Given the description of an element on the screen output the (x, y) to click on. 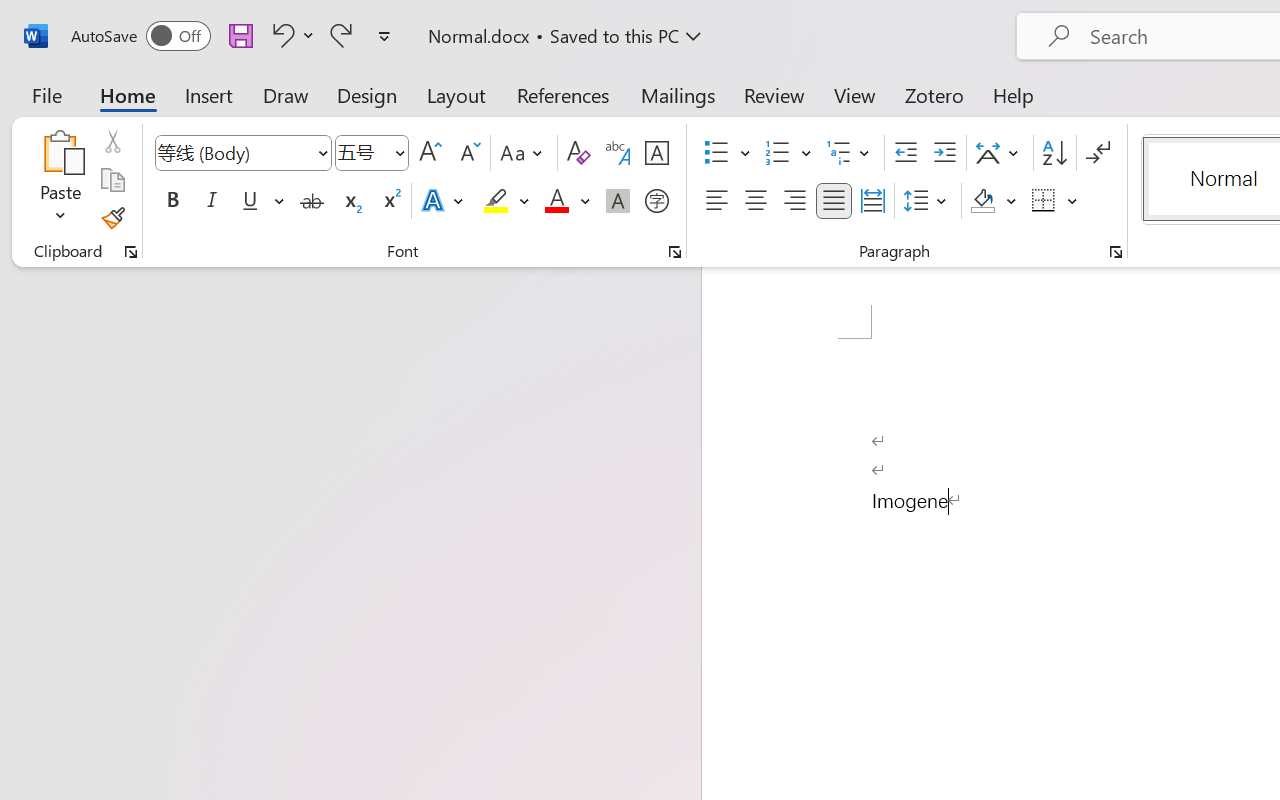
Text Highlight Color Yellow (495, 201)
Decrease Indent (906, 153)
Show/Hide Editing Marks (1098, 153)
Align Right (794, 201)
Sort... (1054, 153)
Copy (112, 179)
Subscript (350, 201)
Undo Typing (280, 35)
Strikethrough (312, 201)
